Given the description of an element on the screen output the (x, y) to click on. 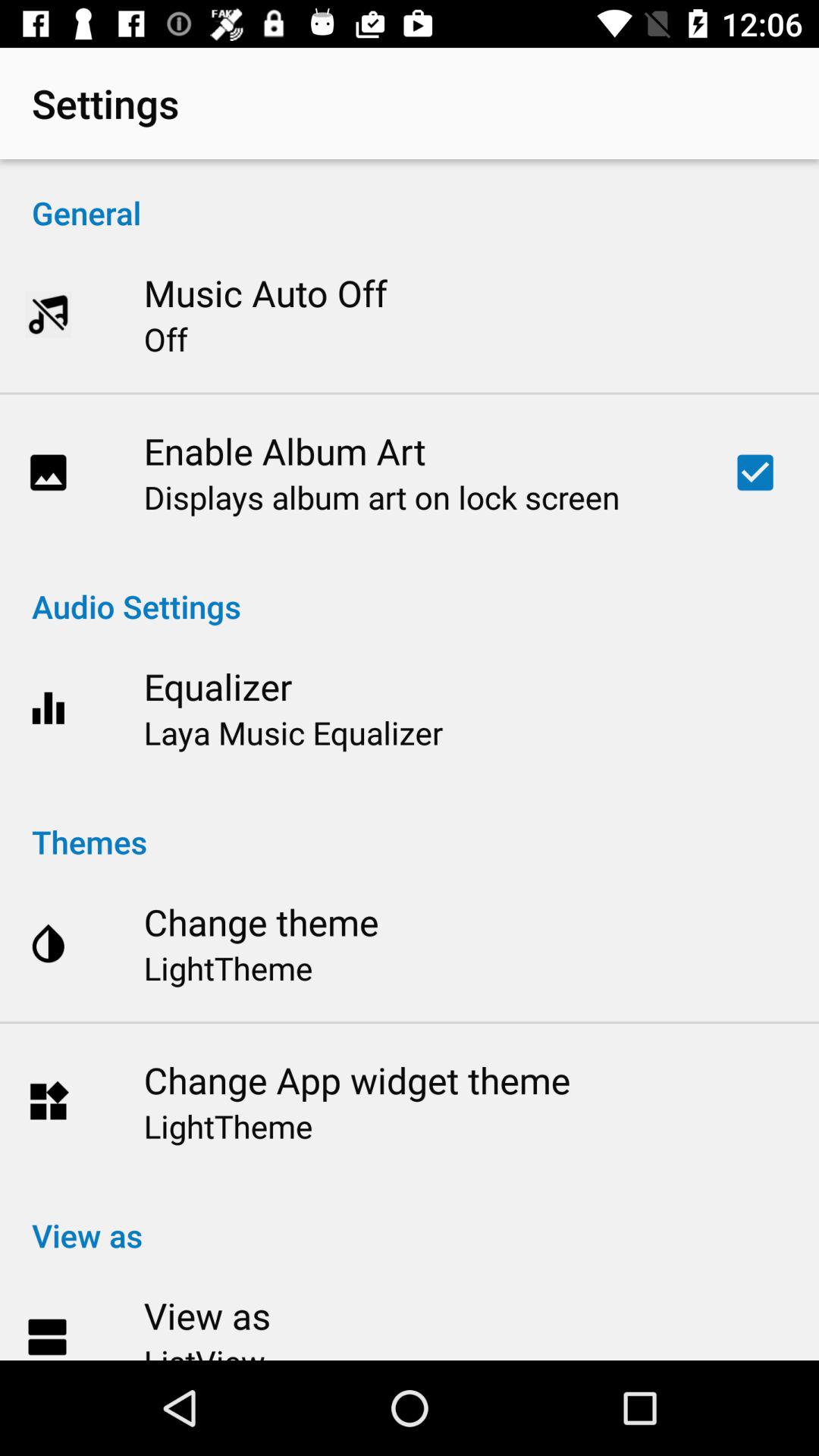
launch the listview (204, 1349)
